Given the description of an element on the screen output the (x, y) to click on. 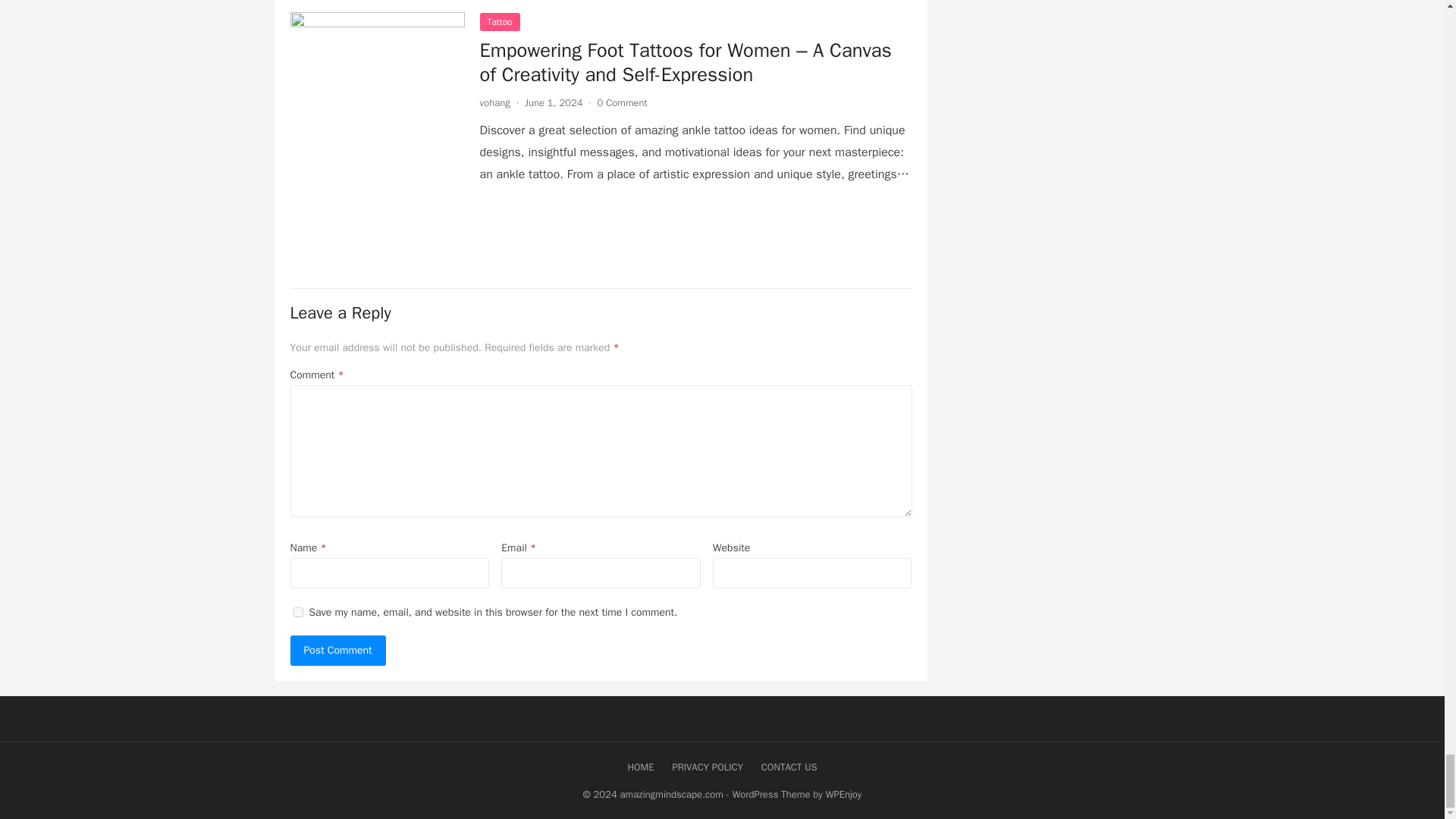
Post Comment (337, 650)
yes (297, 612)
Posts by vohang (494, 102)
